Given the description of an element on the screen output the (x, y) to click on. 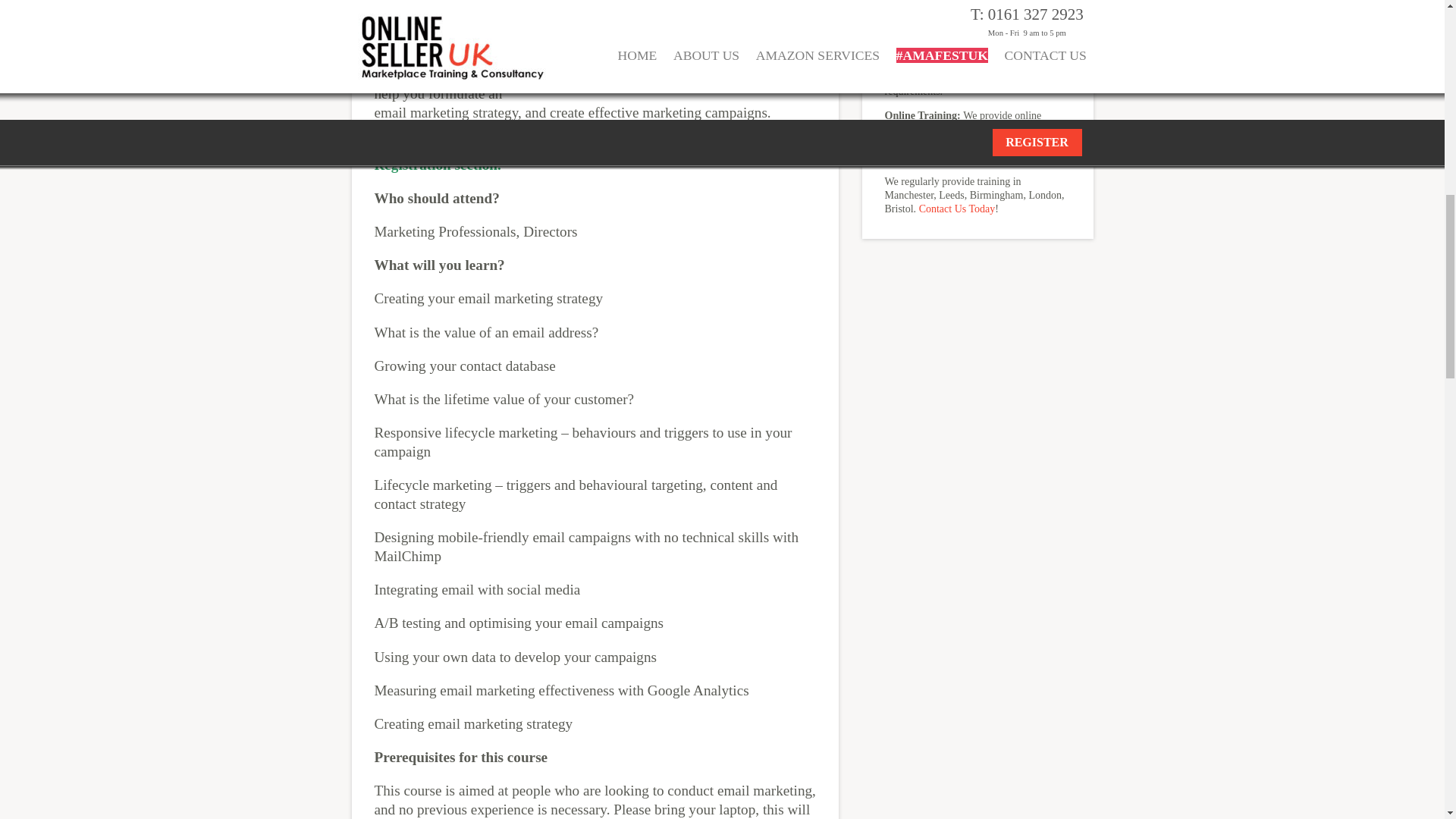
Download Brochure (976, 17)
Contact Us Today (956, 208)
